Given the description of an element on the screen output the (x, y) to click on. 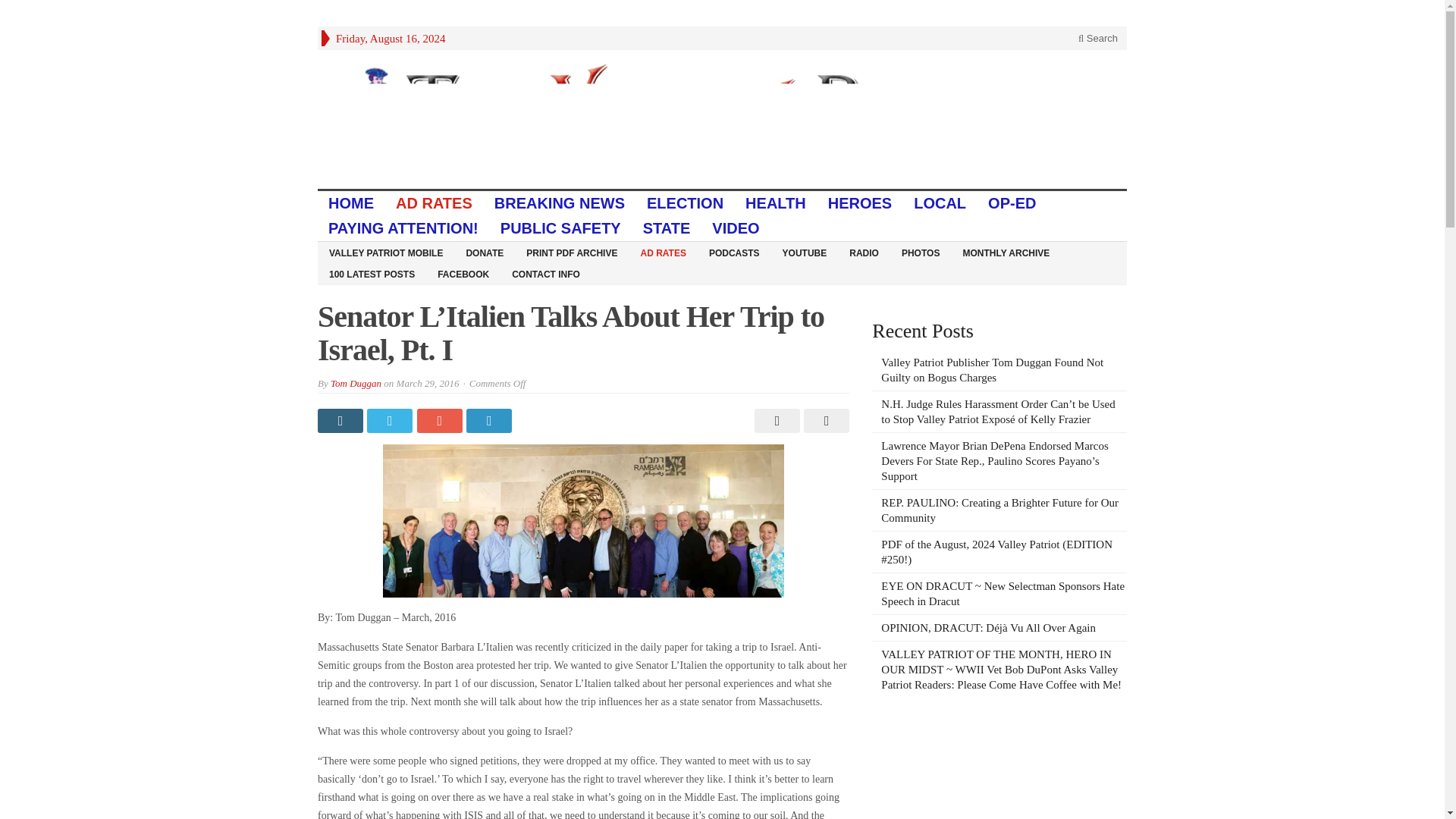
OP-ED (1011, 203)
A New England Press Association Award Winning News Paper (721, 119)
PAYING ATTENTION! (403, 228)
PHOTOS (919, 251)
BREAKING NEWS (559, 203)
Share on Facebook (341, 420)
AD RATES (662, 251)
PUBLIC SAFETY (560, 228)
HEALTH (775, 203)
DONATE (484, 251)
